Given the description of an element on the screen output the (x, y) to click on. 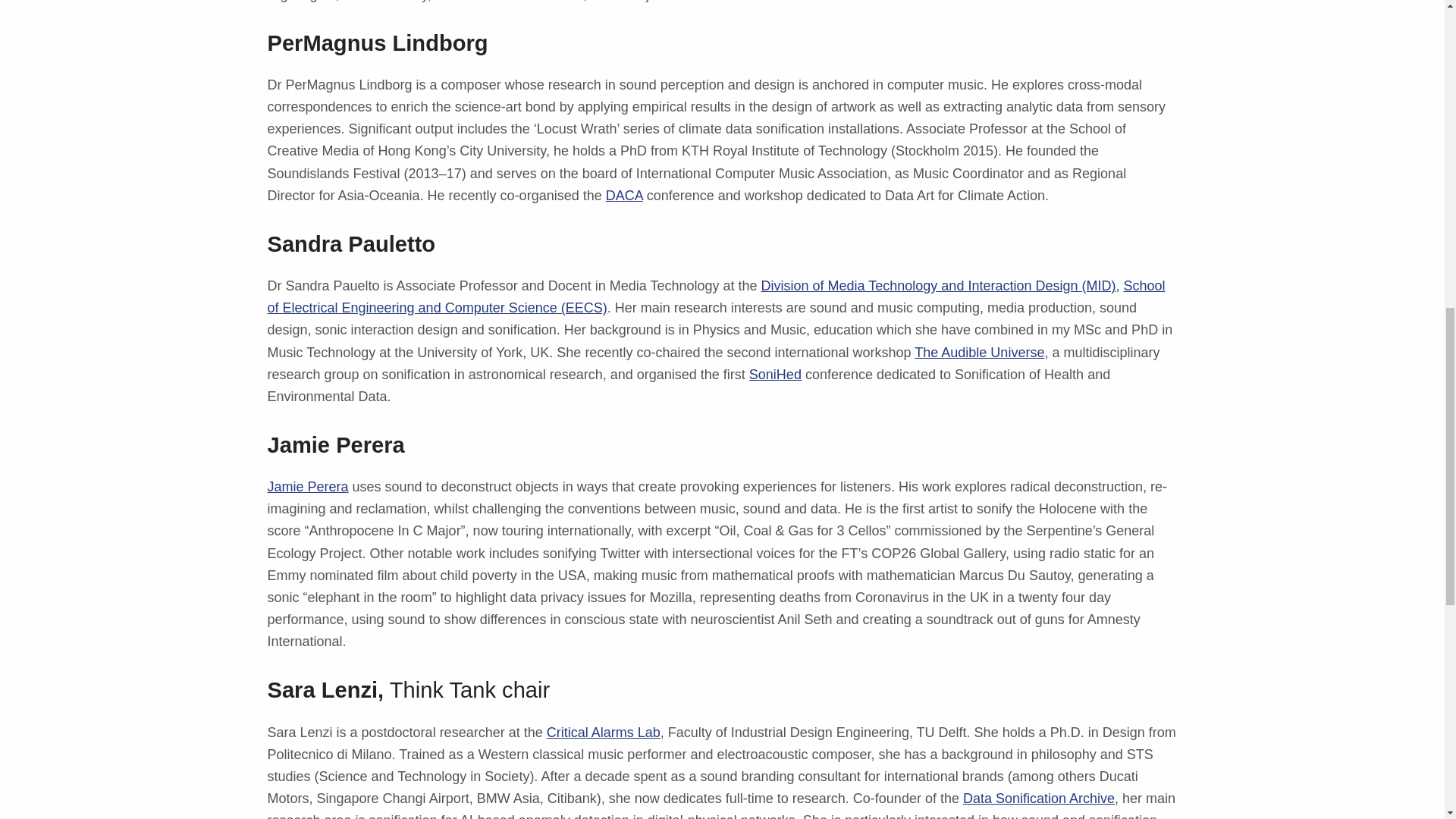
Jamie Perera (306, 486)
Critical Alarms Lab (604, 732)
The Audible Universe (978, 352)
Data Sonification Archive (1038, 798)
DACA (624, 195)
SoniHed (775, 374)
